Given the description of an element on the screen output the (x, y) to click on. 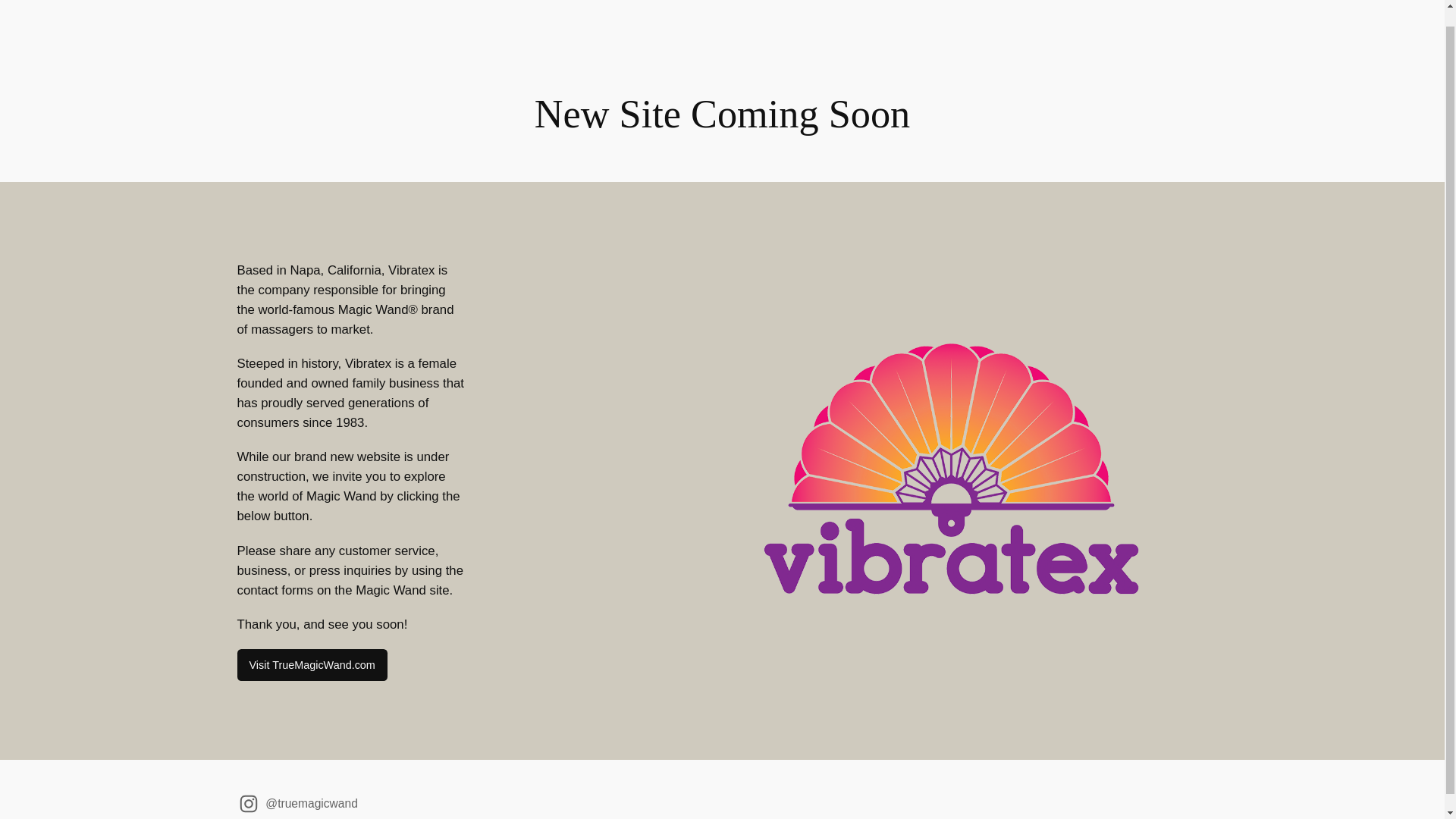
Visit TrueMagicWand.com (311, 664)
